Given the description of an element on the screen output the (x, y) to click on. 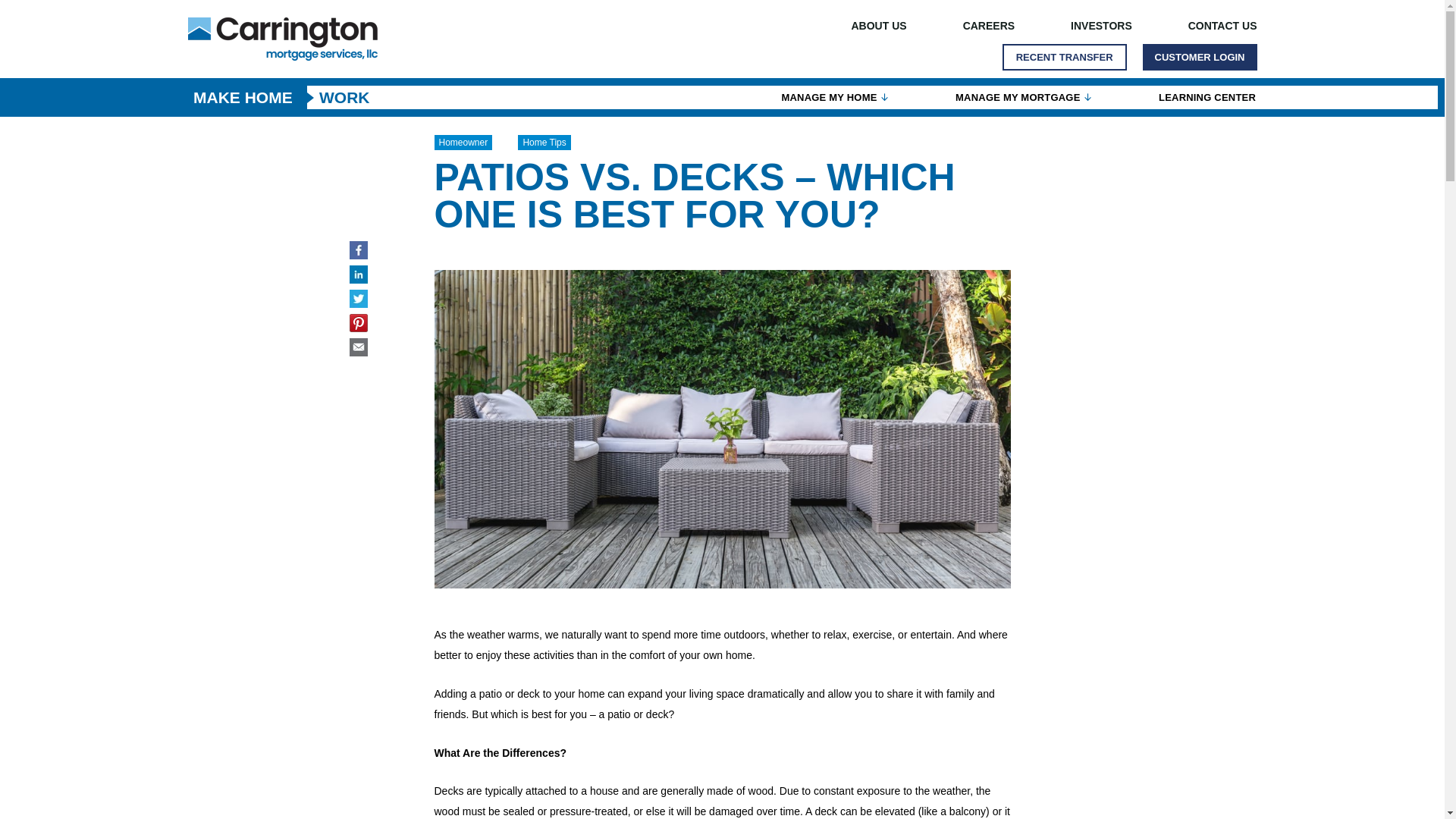
Homeowner (462, 142)
RECENT TRANSFER (1064, 57)
CAREERS (988, 25)
INVESTORS (1100, 25)
CONTACT US (1209, 25)
Home Tips (544, 142)
CUSTOMER LOGIN (1199, 57)
ABOUT US (879, 25)
LEARNING CENTER (1206, 97)
